Given the description of an element on the screen output the (x, y) to click on. 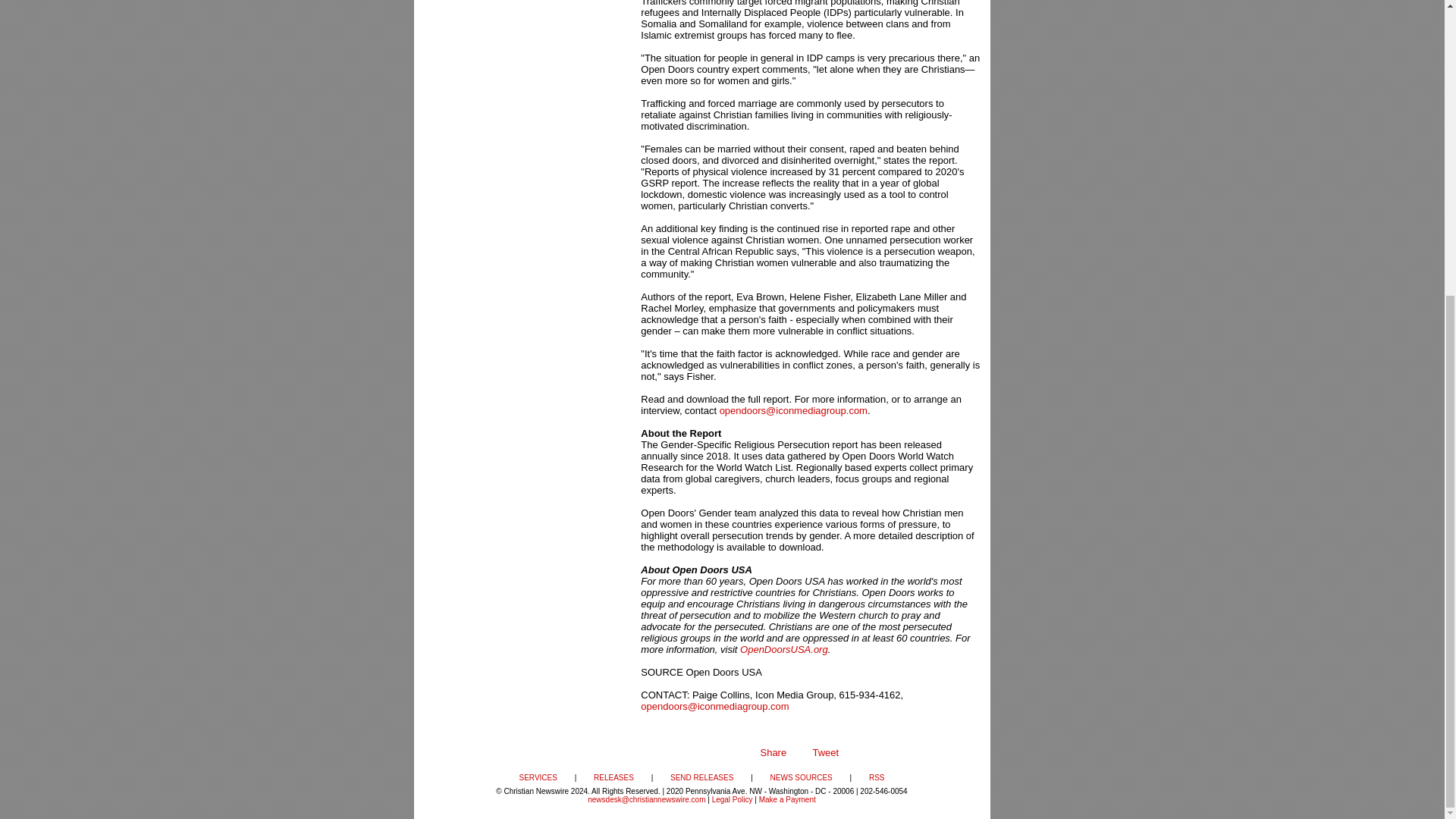
Share (773, 752)
RELEASES (613, 777)
NEWS SOURCES (801, 777)
SEND RELEASES (701, 777)
OpenDoorsUSA.org (783, 649)
RSS (877, 777)
SERVICES (537, 777)
Make a Payment (786, 799)
Legal Policy (731, 799)
Tweet (825, 752)
